Given the description of an element on the screen output the (x, y) to click on. 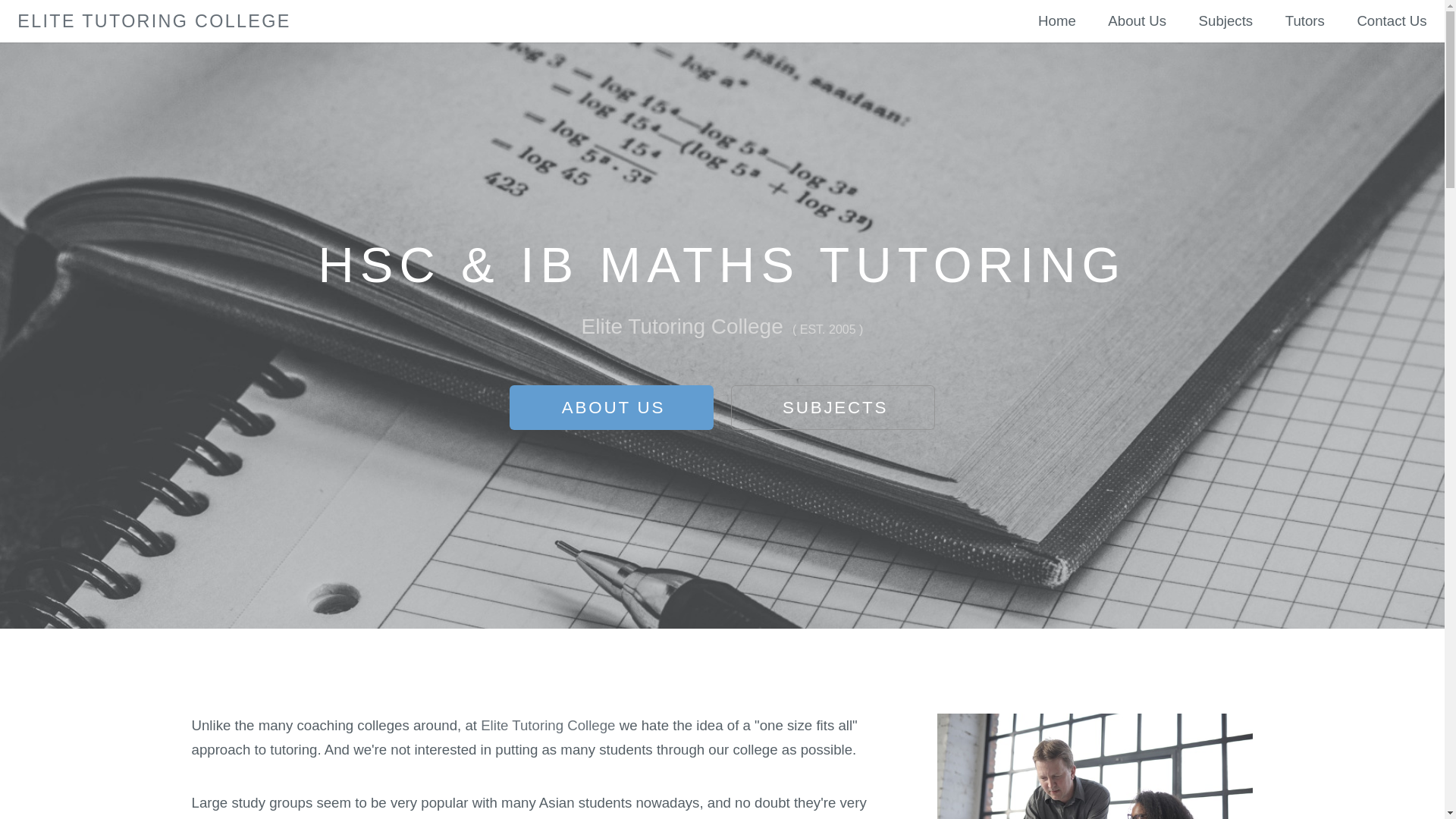
Subjects Element type: text (1225, 21)
Home Element type: text (1057, 21)
SUBJECTS Element type: text (833, 407)
Contact Us Element type: text (1391, 21)
ABOUT US Element type: text (611, 407)
Tutors Element type: text (1304, 21)
About Us Element type: text (1136, 21)
ELITE TUTORING COLLEGE Element type: text (153, 21)
